Given the description of an element on the screen output the (x, y) to click on. 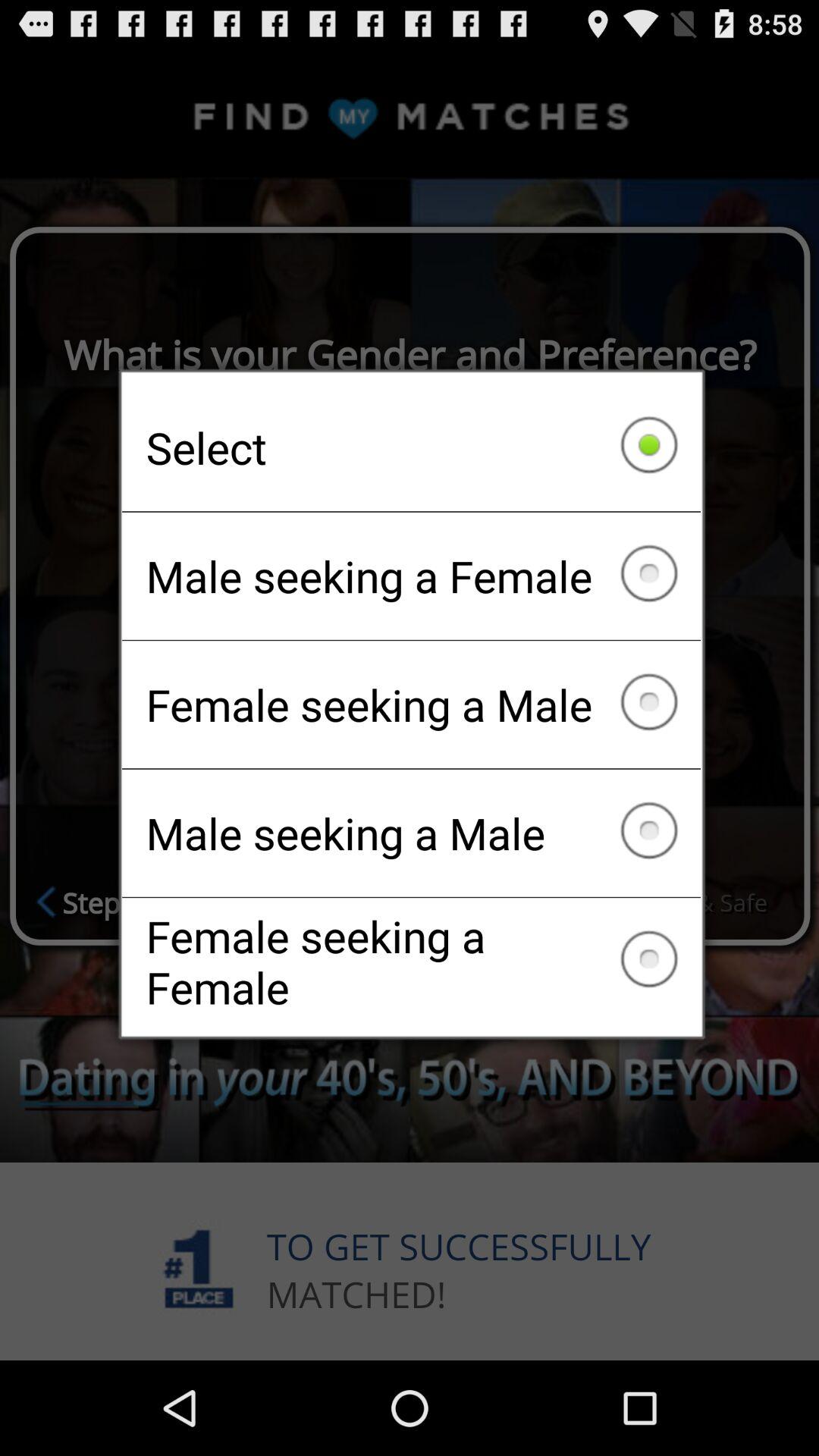
flip to select (411, 447)
